Given the description of an element on the screen output the (x, y) to click on. 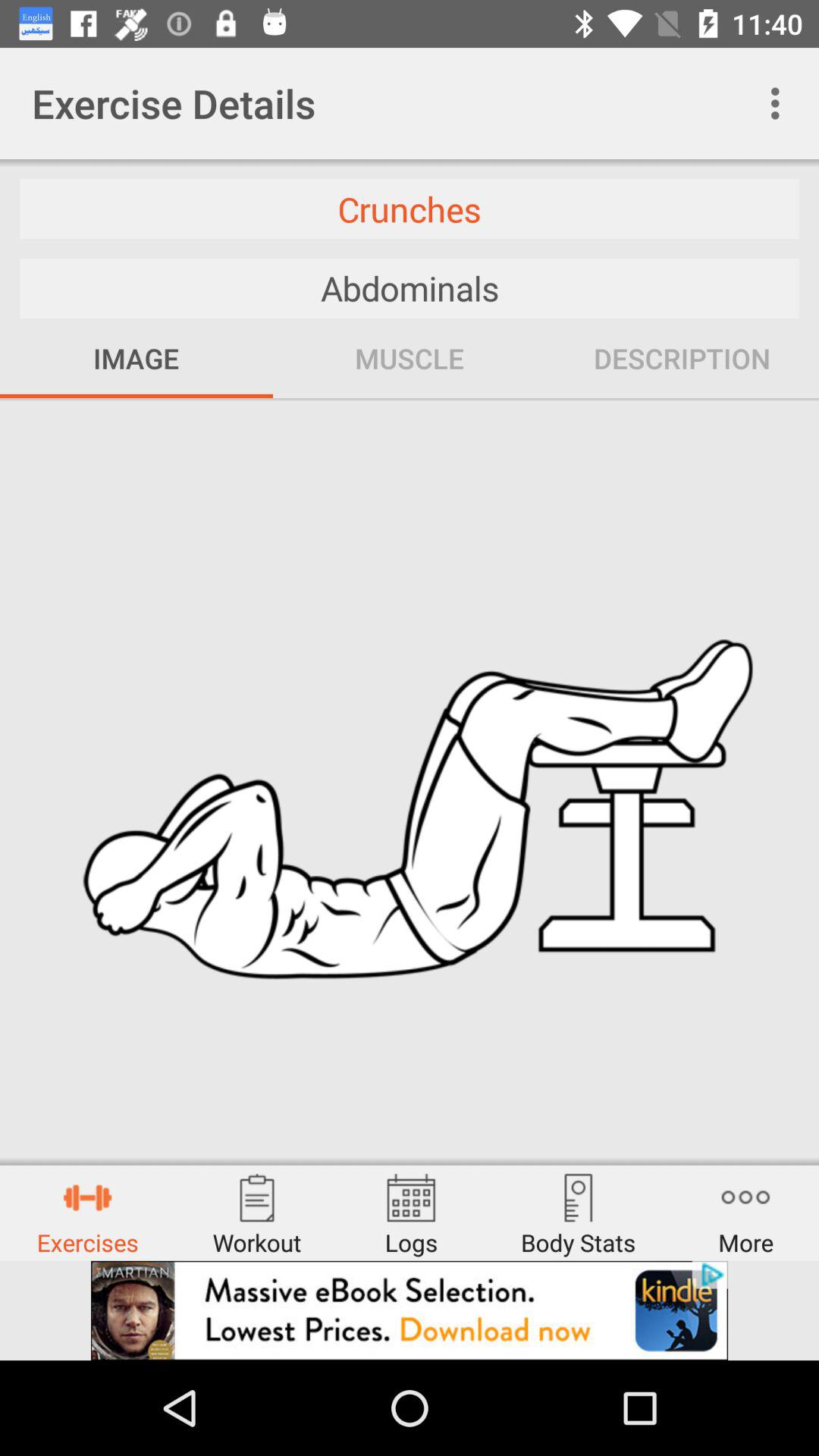
advertisement (409, 1310)
